Given the description of an element on the screen output the (x, y) to click on. 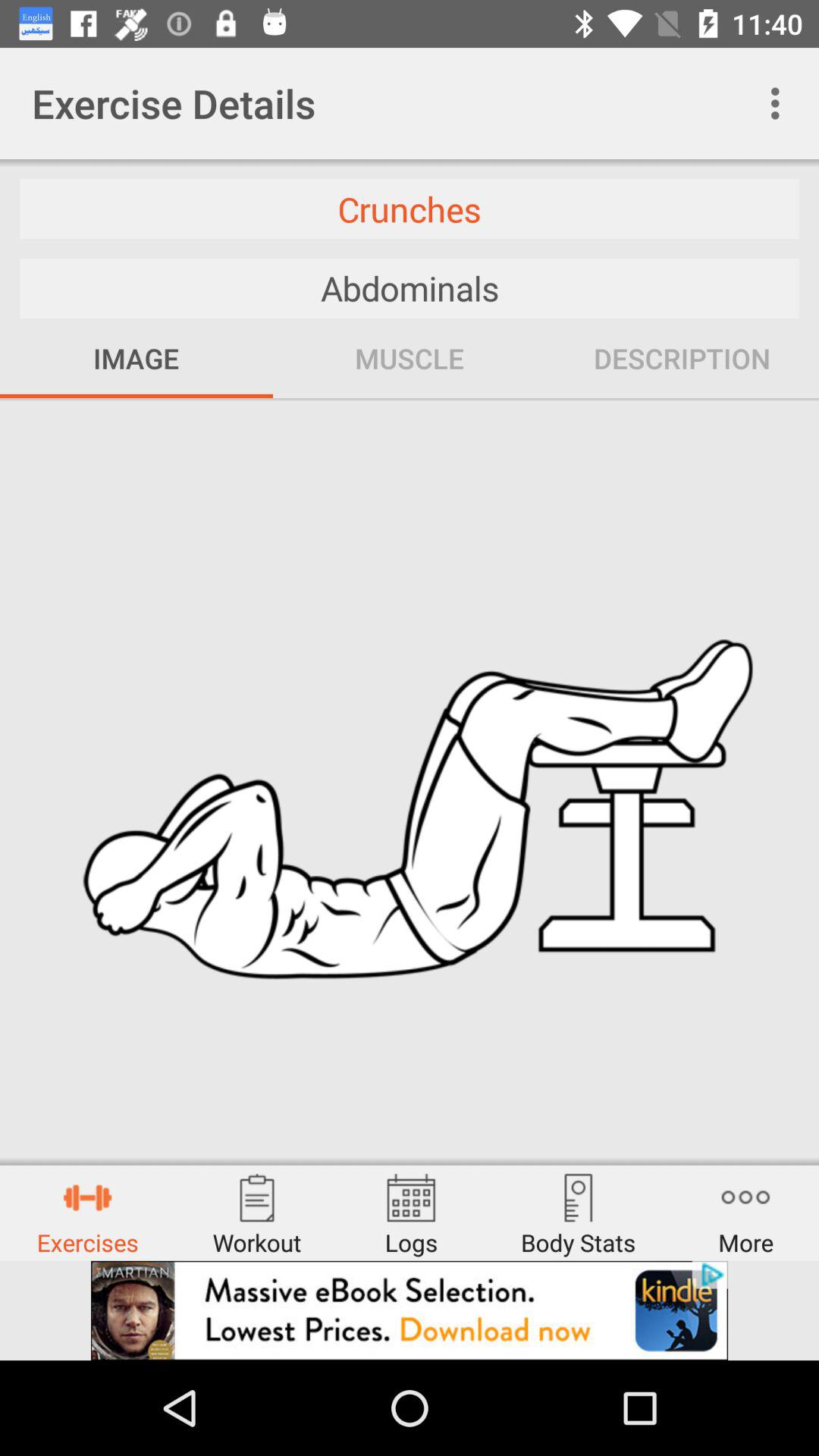
advertisement (409, 1310)
